Given the description of an element on the screen output the (x, y) to click on. 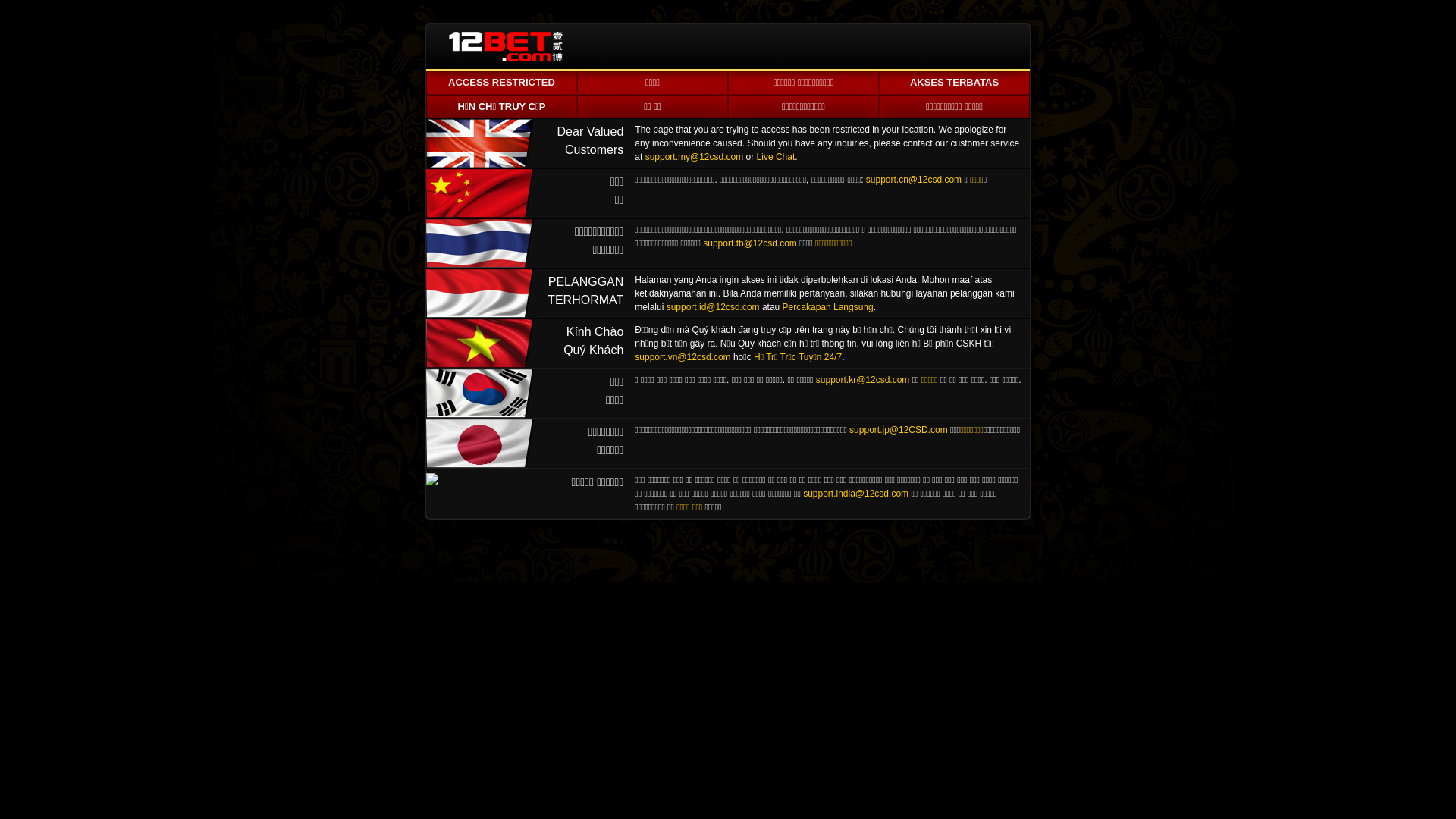
Live Chat Element type: text (775, 156)
support.tb@12csd.com Element type: text (749, 243)
support.india@12csd.com Element type: text (855, 493)
support.cn@12csd.com Element type: text (913, 179)
Percakapan Langsung Element type: text (827, 306)
support.id@12csd.com Element type: text (712, 306)
support.kr@12csd.com Element type: text (862, 379)
support.jp@12CSD.com Element type: text (898, 429)
support.my@12csd.com Element type: text (694, 156)
support.vn@12csd.com Element type: text (682, 356)
